Given the description of an element on the screen output the (x, y) to click on. 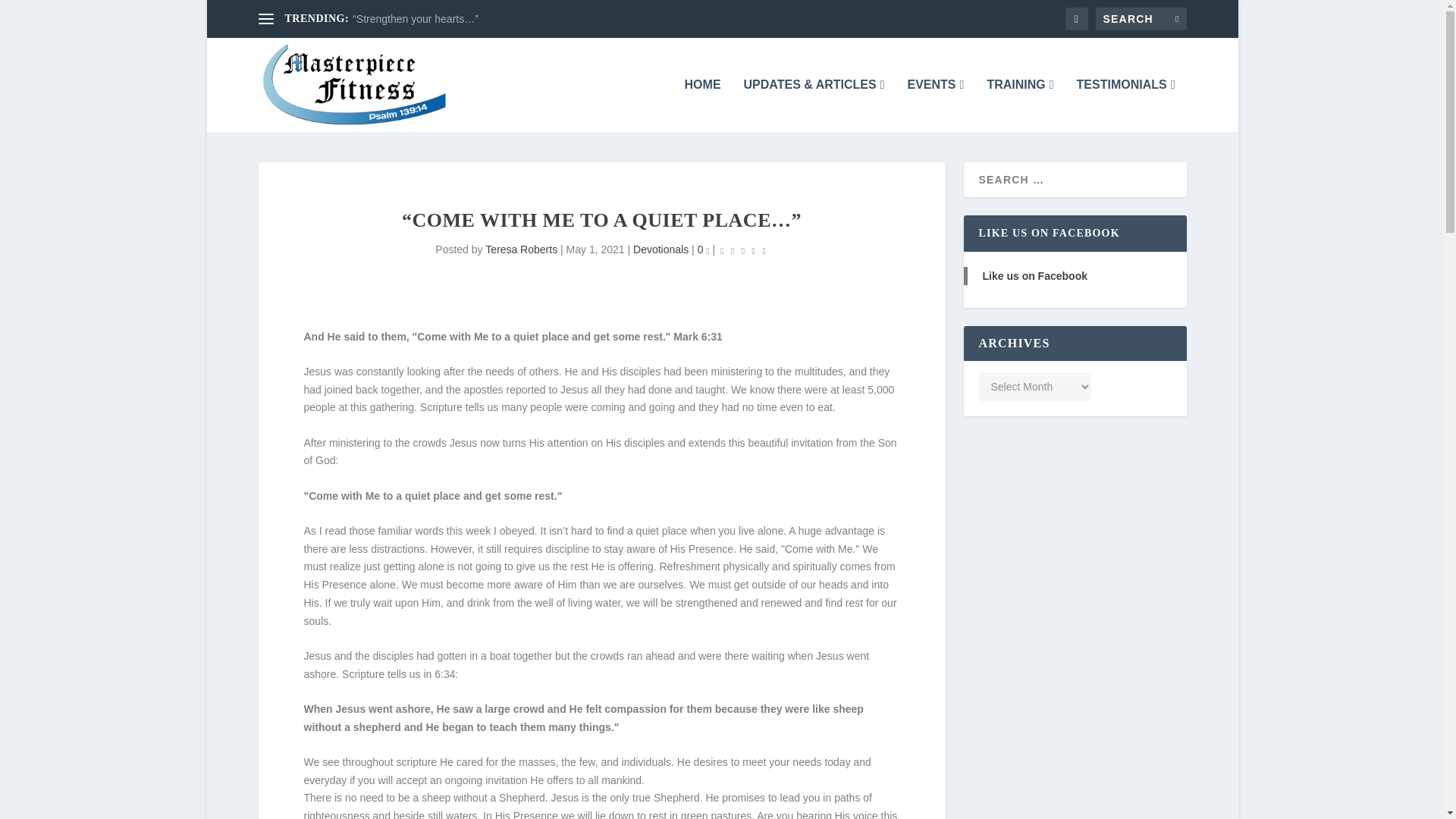
Rating: 5.00 (742, 250)
EVENTS (935, 104)
Posts by Teresa Roberts (520, 249)
Devotionals (660, 249)
Teresa Roberts (520, 249)
